Given the description of an element on the screen output the (x, y) to click on. 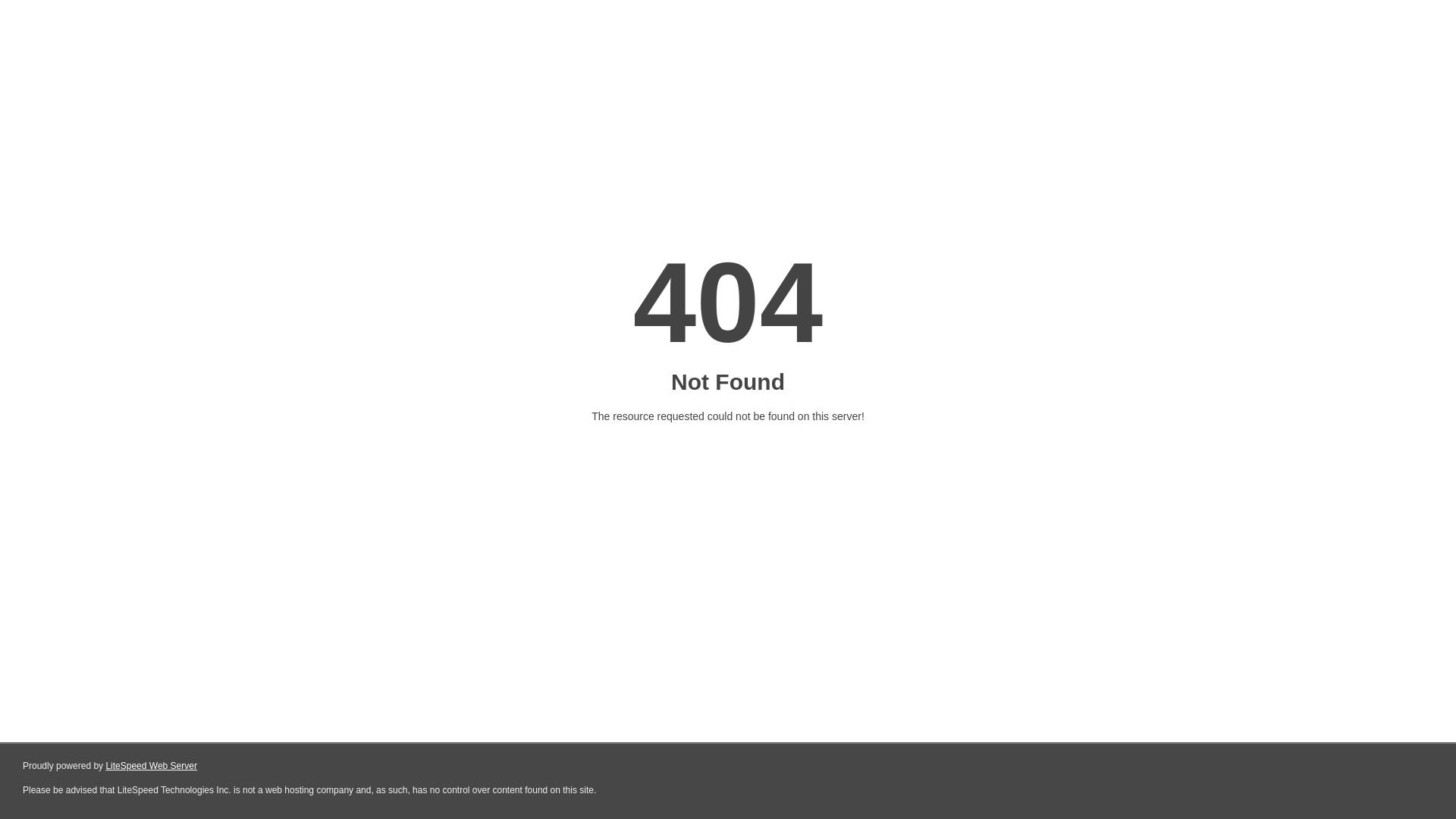
LiteSpeed Web Server Element type: text (151, 765)
